Given the description of an element on the screen output the (x, y) to click on. 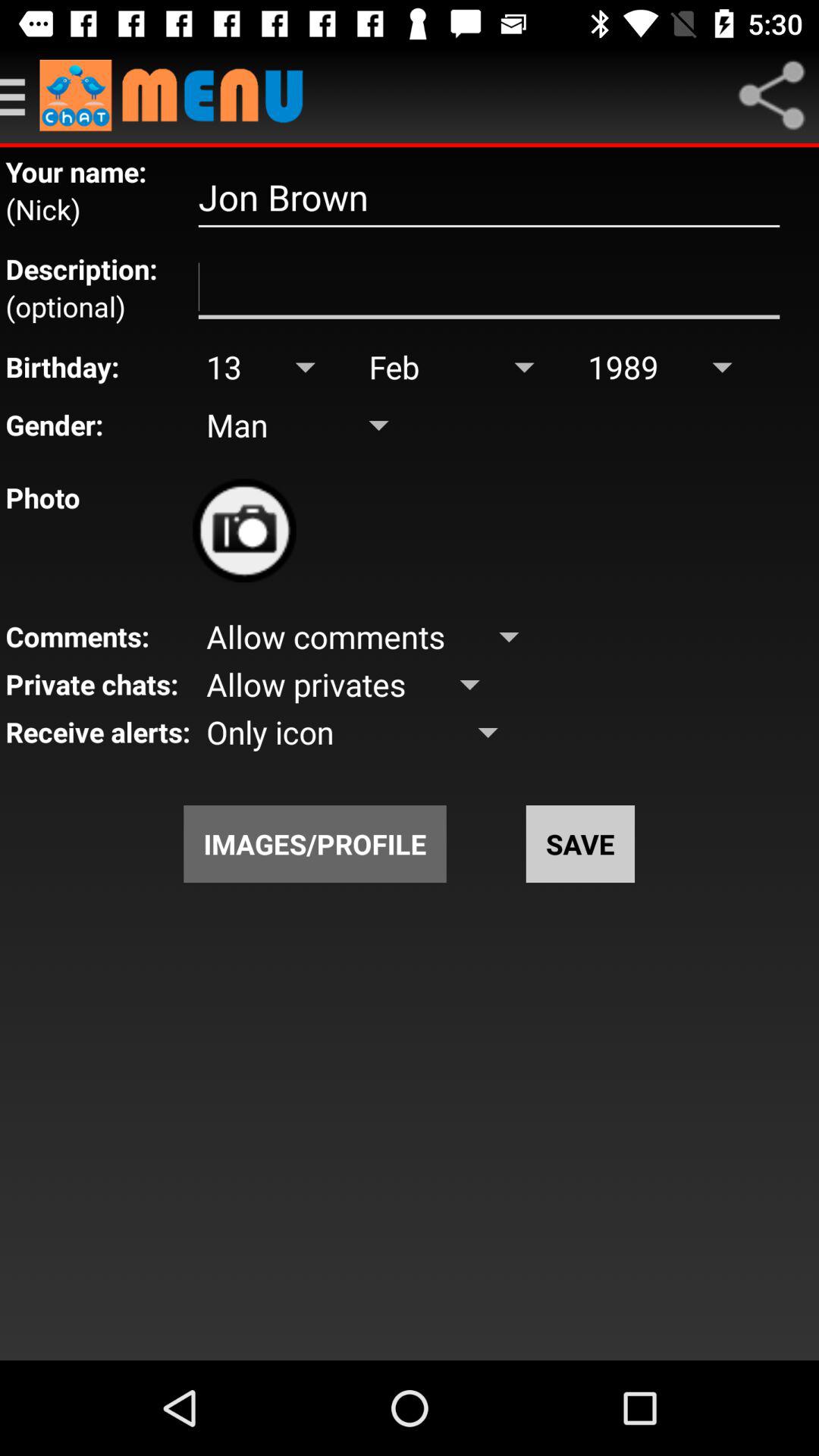
take profile photo (244, 530)
